Given the description of an element on the screen output the (x, y) to click on. 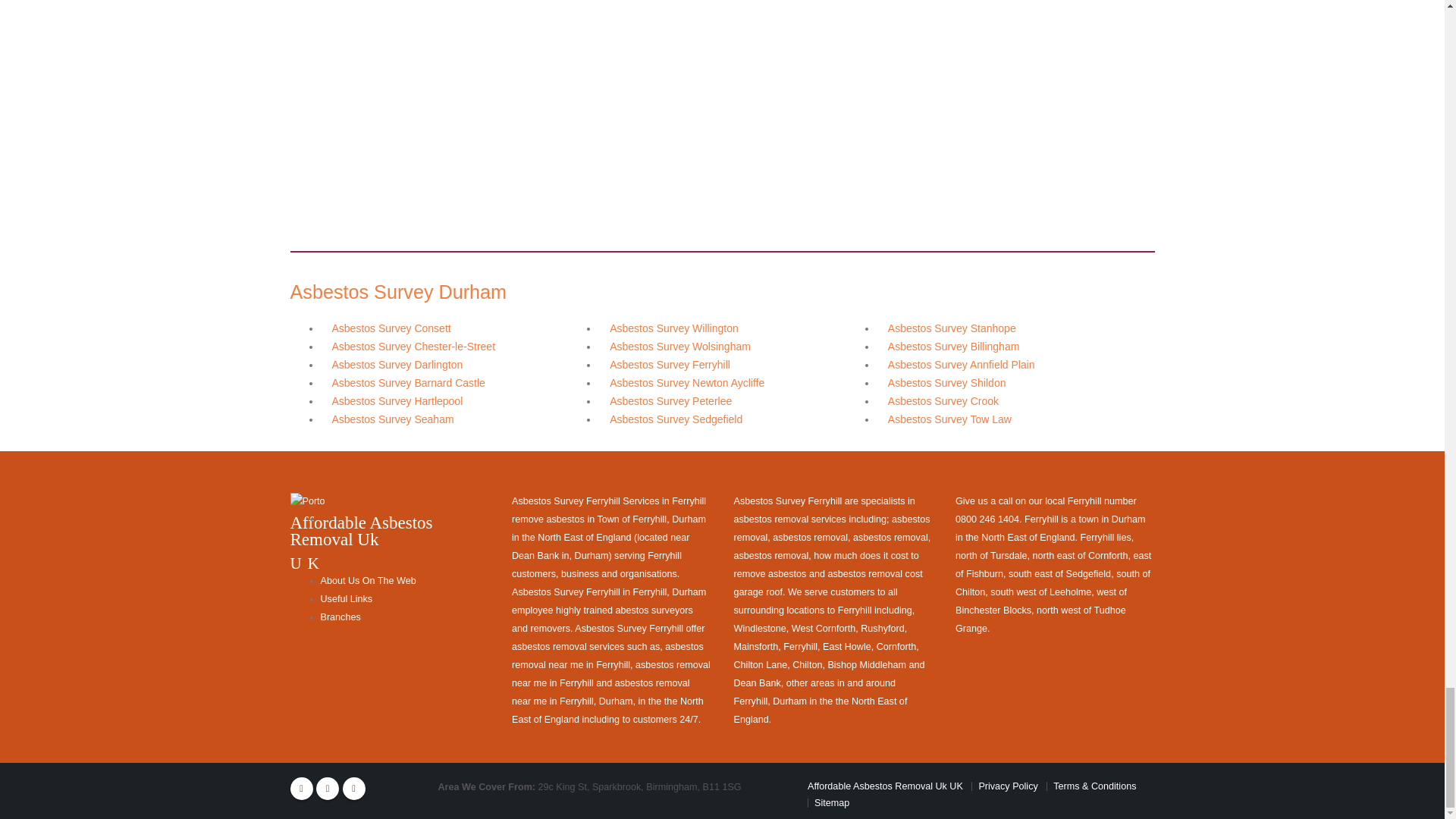
Twitter (327, 788)
Facebook (301, 788)
Linkedin (353, 788)
